Given the description of an element on the screen output the (x, y) to click on. 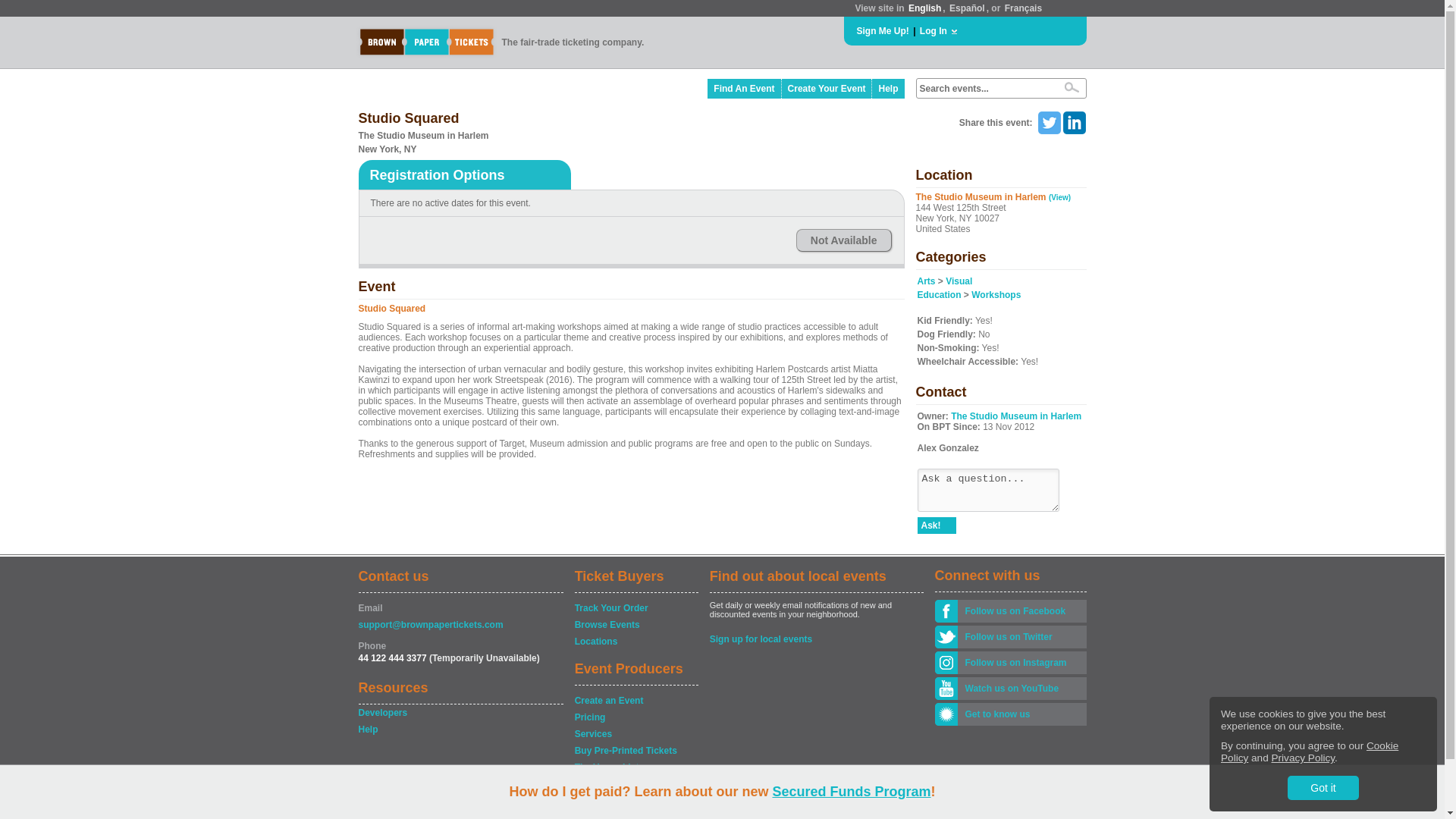
The Studio Museum in Harlem (1015, 416)
Ask! (936, 524)
Sign up for local events (816, 639)
Track Your Order (636, 607)
Help (888, 88)
Find An Event (743, 88)
Education (938, 294)
Pricing (636, 717)
Buy Pre-Printed Tickets (636, 750)
Developers (460, 712)
Log In (933, 30)
Search events... (984, 88)
English (924, 8)
Sign Me Up! (883, 30)
Locations (636, 641)
